Given the description of an element on the screen output the (x, y) to click on. 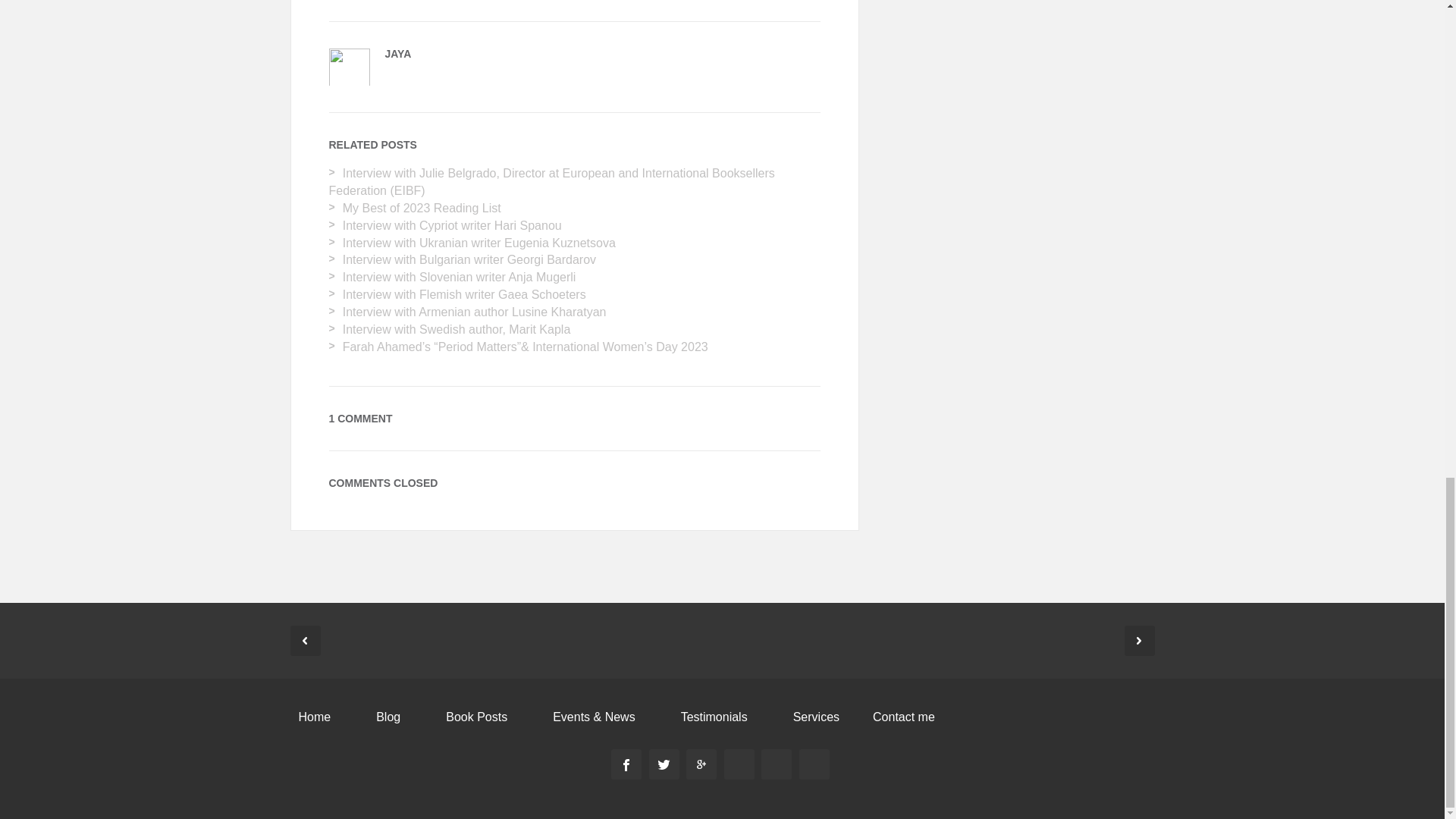
Interview with Cypriot writer Hari Spanou (452, 225)
JAYA (398, 53)
Interview with Slovenian writer Anja Mugerli (459, 277)
Interview with Ukranian writer Eugenia Kuznetsova (478, 242)
Interview with Swedish author, Marit Kapla (456, 328)
My Best of 2023 Reading List (421, 207)
Interview with Bulgarian writer Georgi Bardarov (468, 259)
Interview with Armenian author Lusine Kharatyan (474, 311)
Interview with Flemish writer Gaea Schoeters (464, 294)
